Given the description of an element on the screen output the (x, y) to click on. 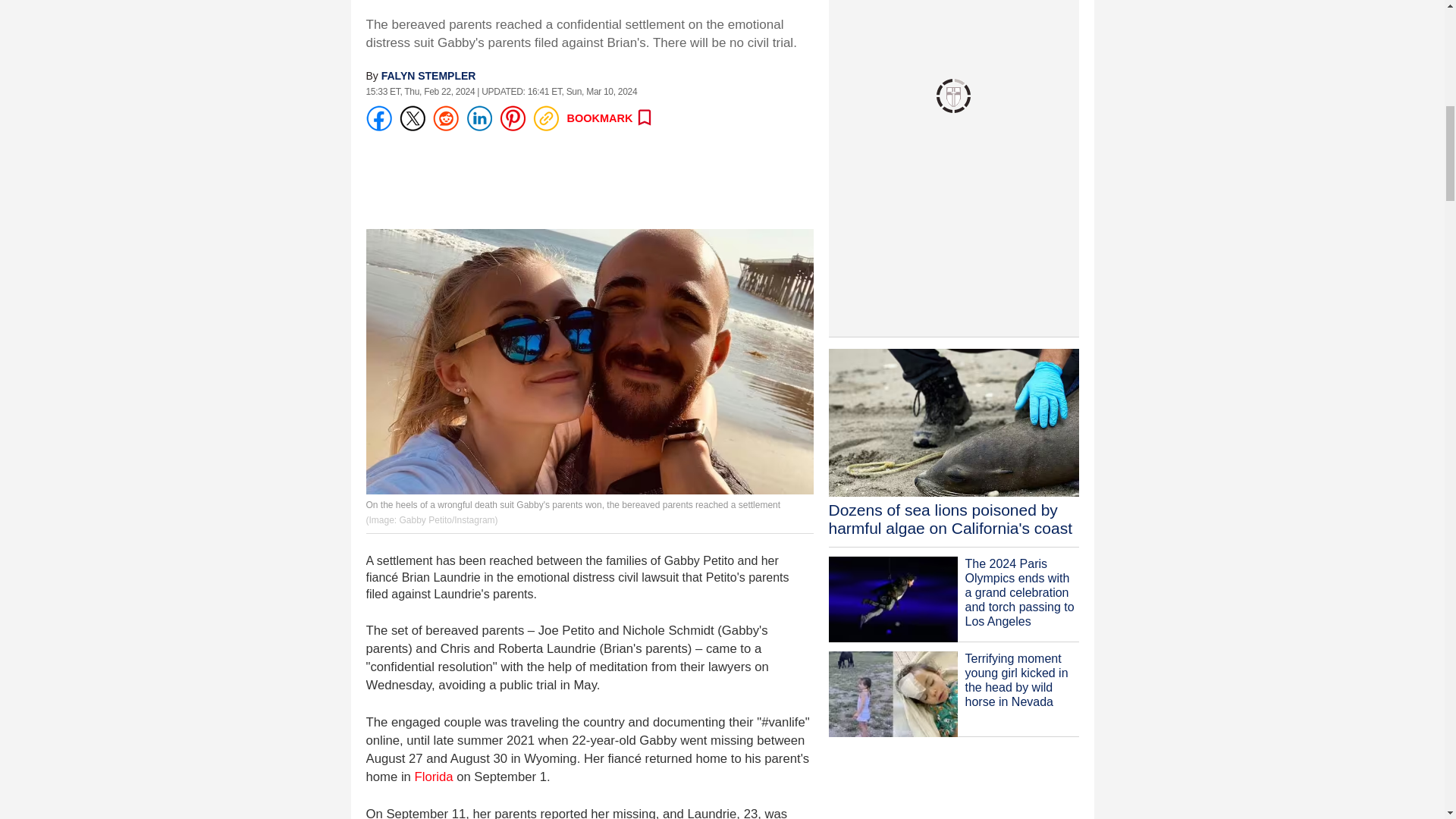
Share on LinkedIn (478, 118)
Share on Facebook (378, 118)
Share on Twitter (411, 118)
Share on Pinterest (511, 118)
Copy link (544, 118)
Share on Reddit (445, 118)
dozens of sea lions poisoned algae bloom california  (953, 437)
